Given the description of an element on the screen output the (x, y) to click on. 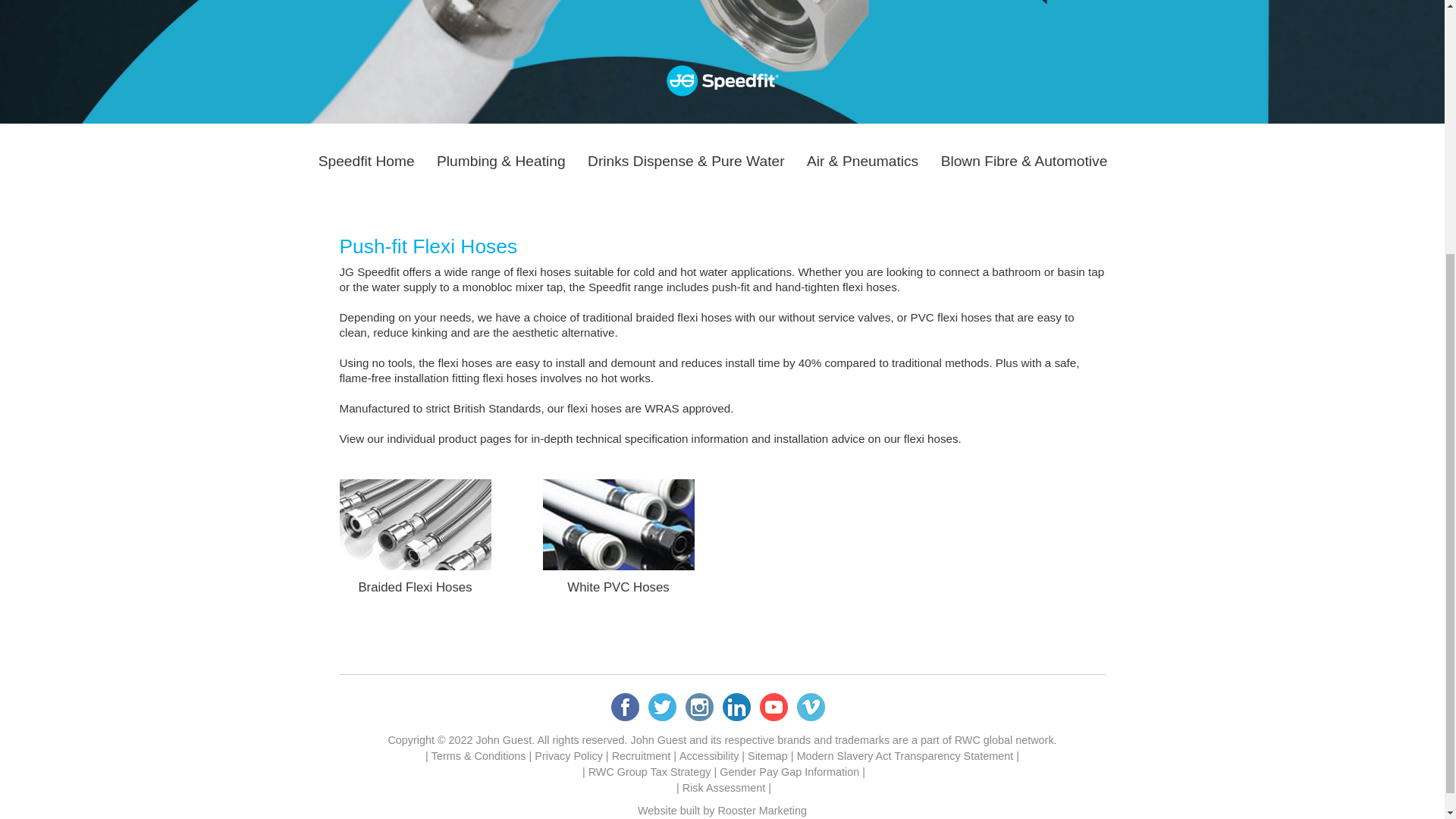
Web design agency (761, 810)
